Given the description of an element on the screen output the (x, y) to click on. 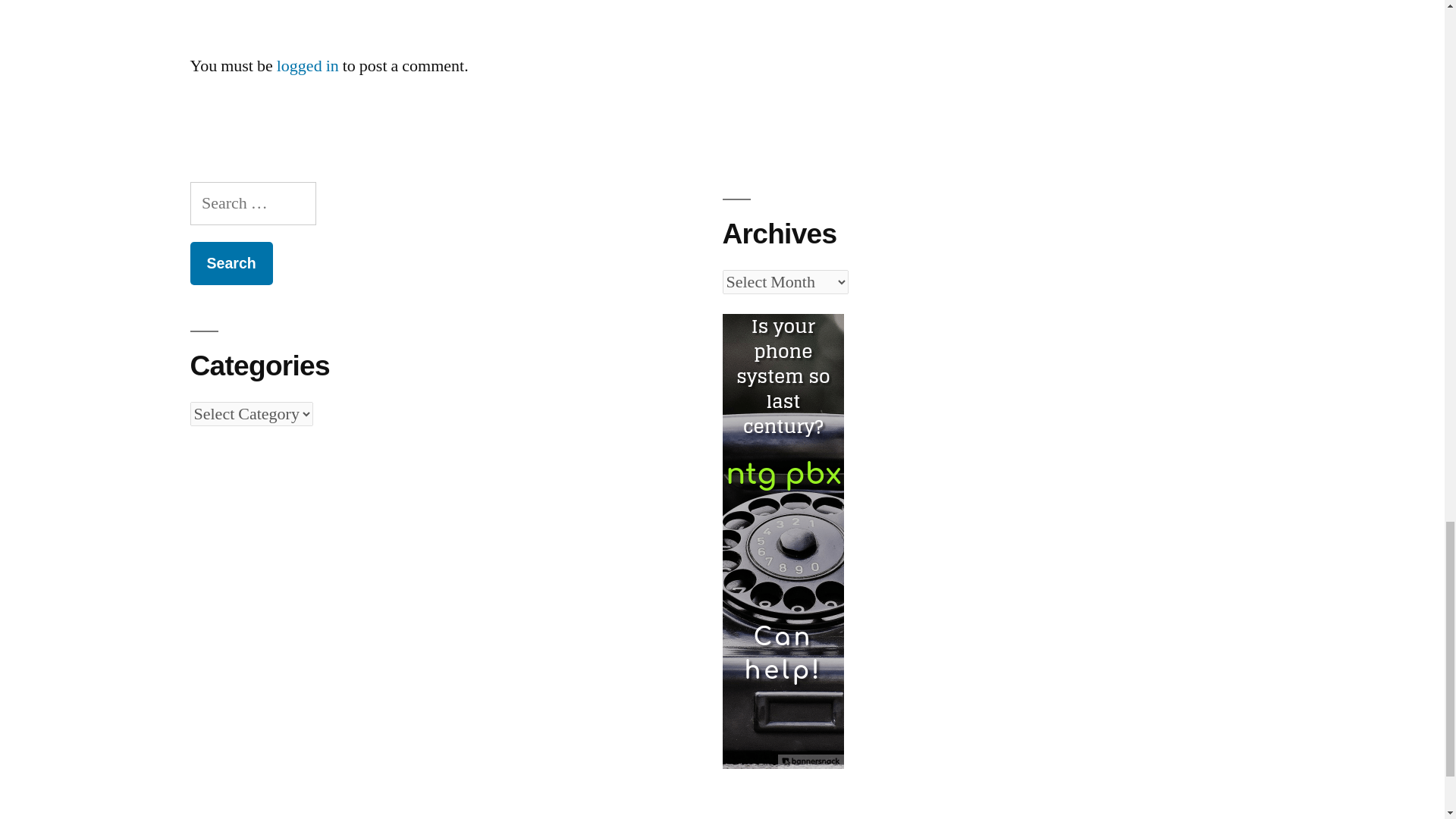
logged in (307, 65)
Search (230, 263)
Search (230, 263)
Search (230, 263)
